Given the description of an element on the screen output the (x, y) to click on. 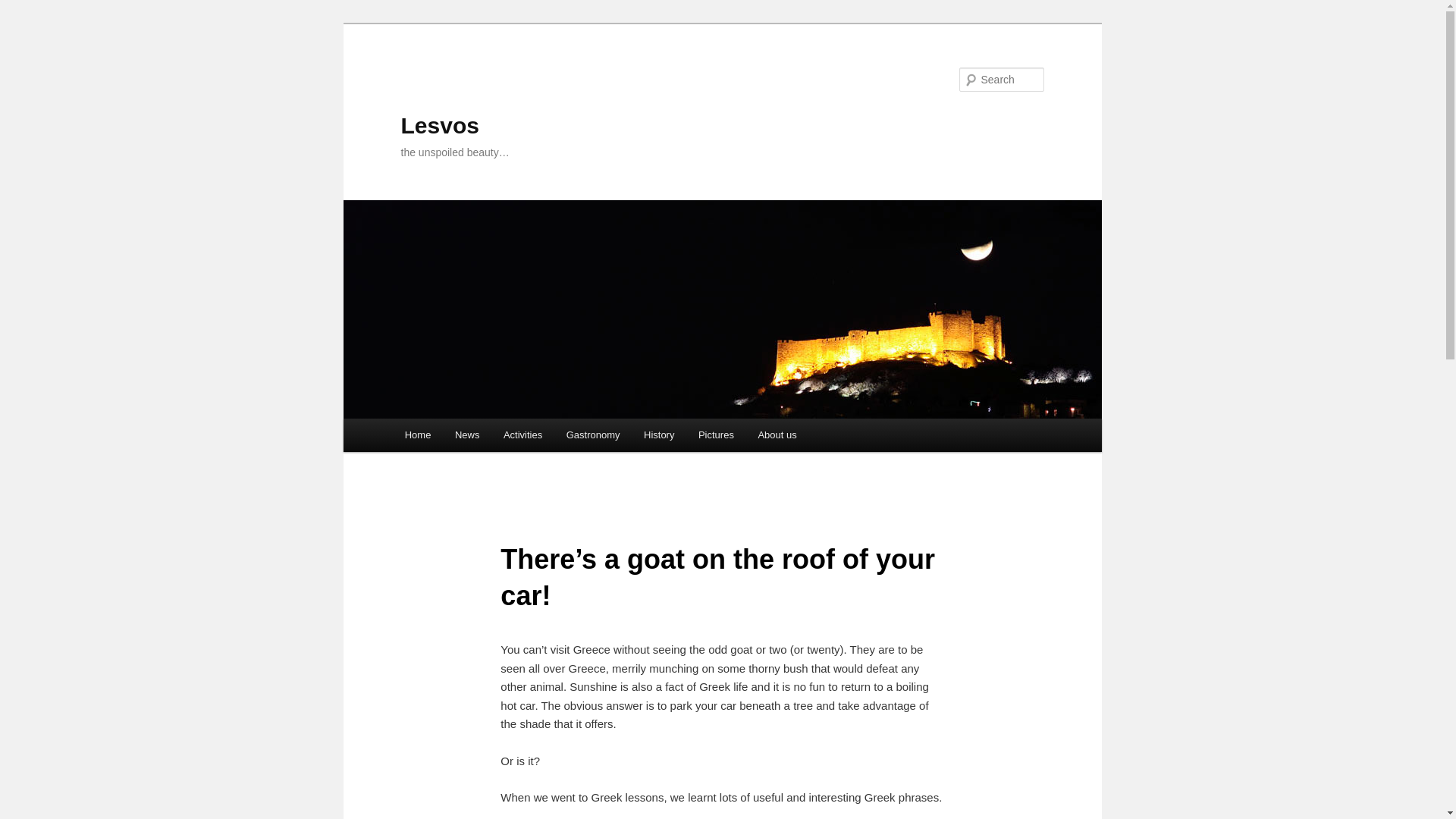
Search (24, 8)
News (467, 434)
Home (417, 434)
Lesvos (439, 125)
Activities (523, 434)
